Given the description of an element on the screen output the (x, y) to click on. 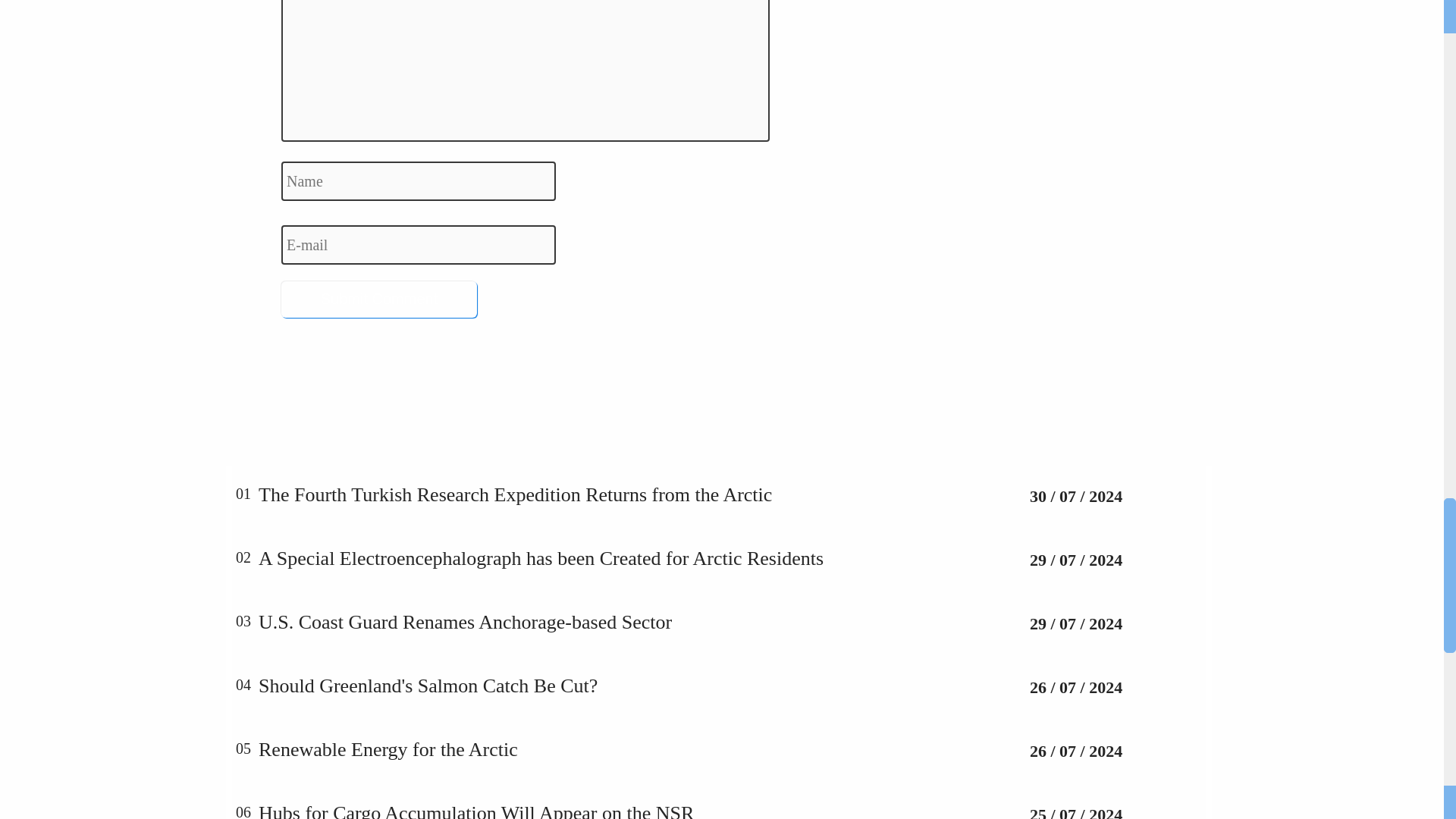
Submit Comment (379, 299)
Submit Comment (379, 299)
